Given the description of an element on the screen output the (x, y) to click on. 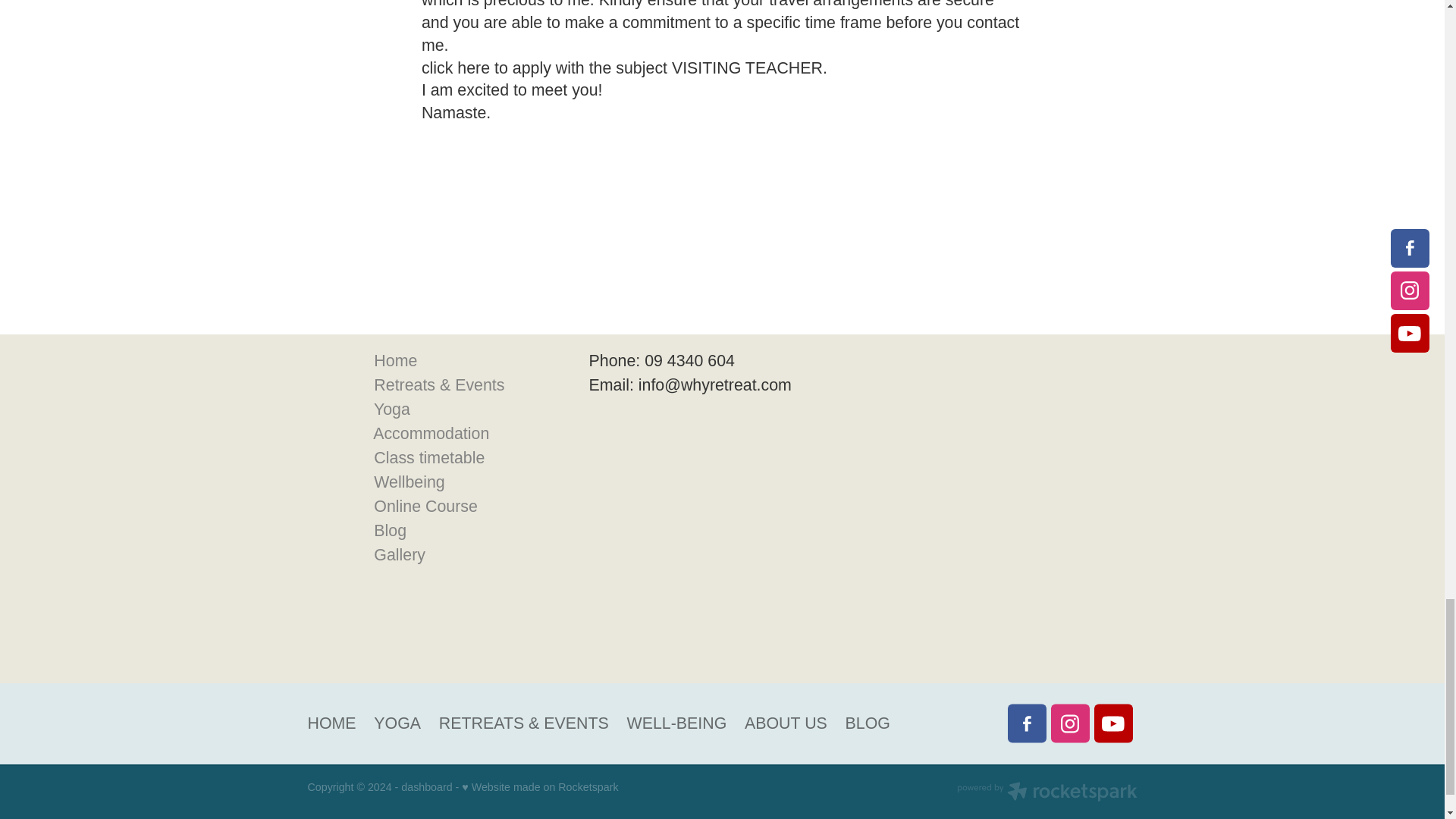
A link to this website's Instagram. (1070, 723)
Rocketspark website builder (1046, 793)
A link to this website's Facebook. (1026, 723)
A link to this website's Youtube. (1112, 723)
